Given the description of an element on the screen output the (x, y) to click on. 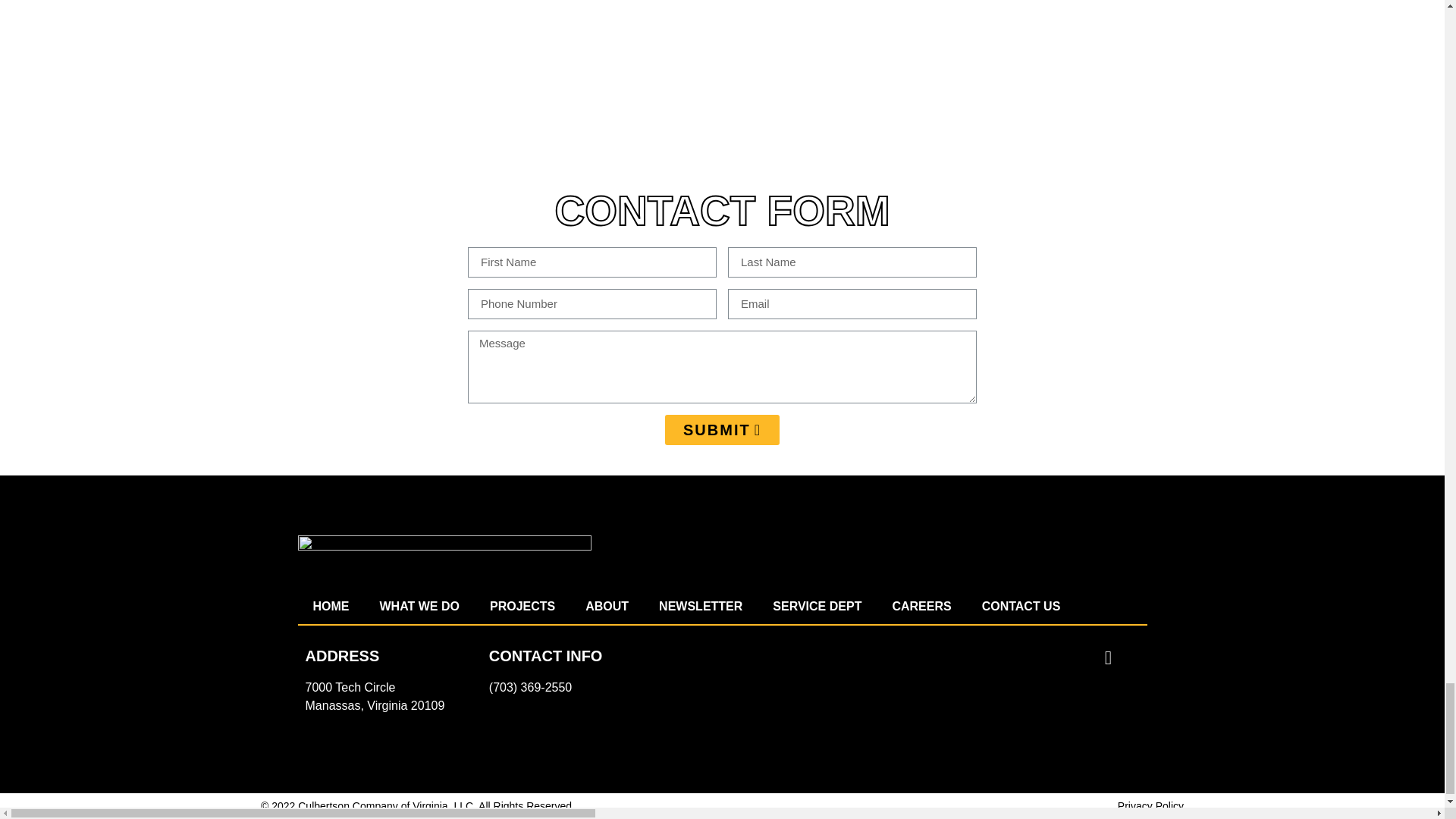
HOME (330, 606)
SERVICE DEPT (816, 606)
SUBMIT (721, 429)
ABOUT (606, 606)
PROJECTS (522, 606)
NEWSLETTER (700, 606)
WHAT WE DO (419, 606)
